Given the description of an element on the screen output the (x, y) to click on. 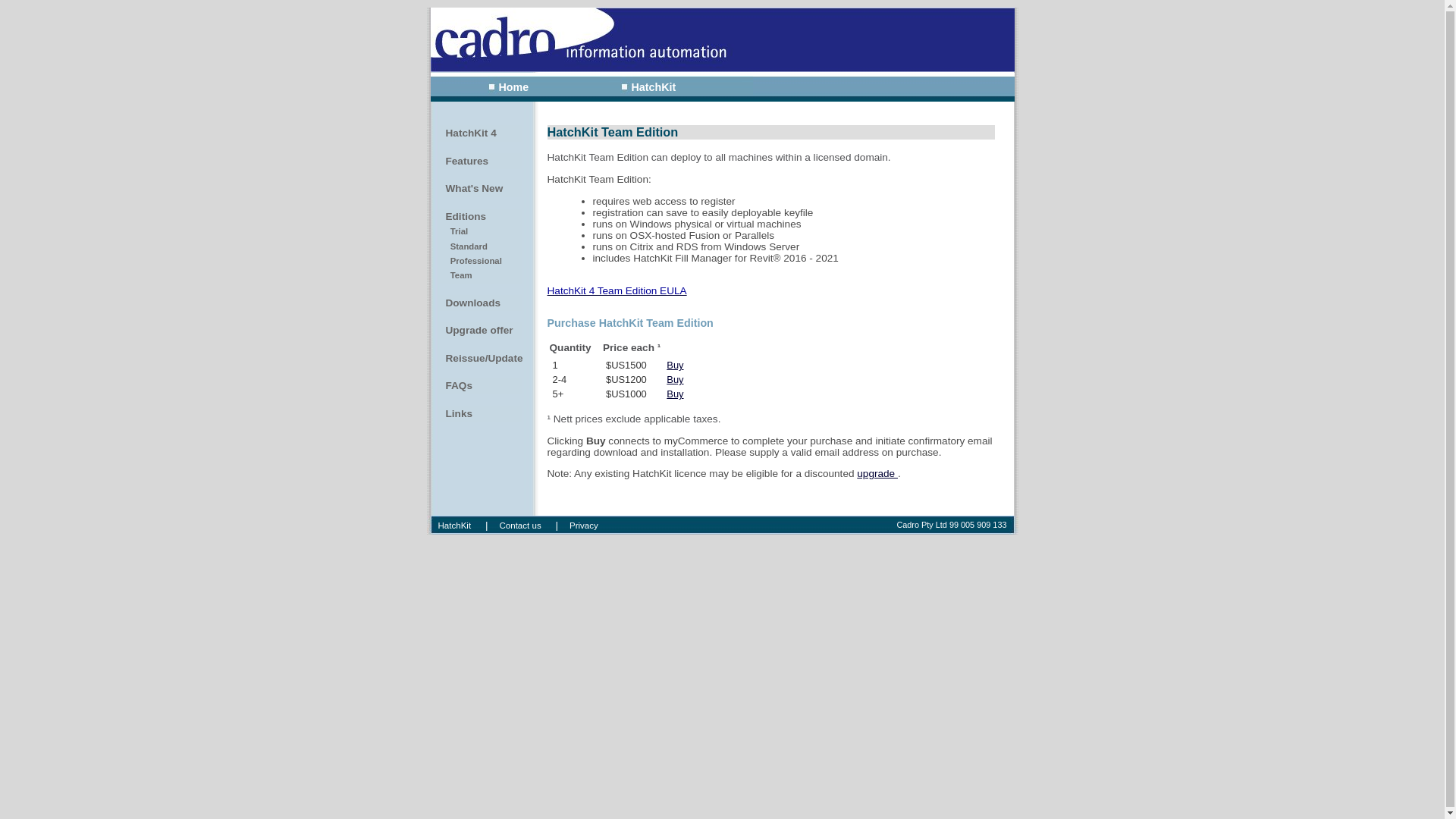
What's New Element type: text (479, 188)
Editions Element type: text (479, 216)
Contact us Element type: text (519, 525)
Links Element type: text (479, 413)
  Standard Element type: text (479, 246)
upgrade Element type: text (876, 473)
  Team Element type: text (479, 275)
HatchKit Element type: text (454, 525)
  Trial Element type: text (479, 231)
HatchKit 4 Team Edition EULA Element type: text (617, 290)
Buy Element type: text (674, 393)
FAQs Element type: text (479, 385)
  Professional Element type: text (479, 261)
Reissue/Update Element type: text (479, 358)
Buy Element type: text (674, 364)
HatchKit Element type: text (648, 87)
Downloads Element type: text (479, 302)
HatchKit 4 Element type: text (479, 133)
Buy Element type: text (674, 379)
Features Element type: text (479, 161)
Upgrade offer Element type: text (479, 330)
Privacy Element type: text (583, 525)
Home Element type: text (507, 87)
